Given the description of an element on the screen output the (x, y) to click on. 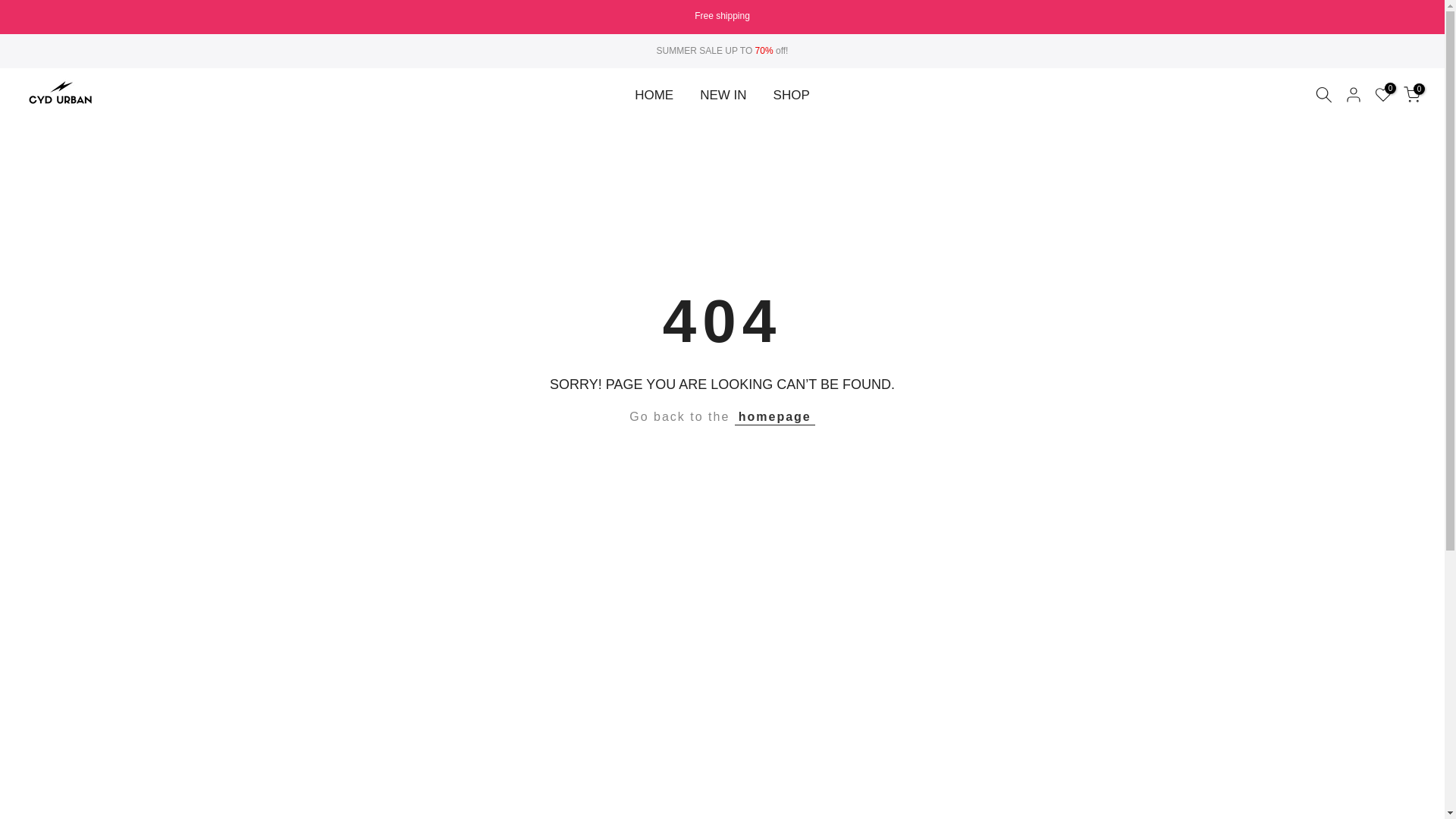
Skip to content (10, 7)
HOME (654, 95)
0 (1412, 94)
homepage (775, 416)
0 (1382, 94)
NEW IN (723, 95)
SHOP (791, 95)
